Given the description of an element on the screen output the (x, y) to click on. 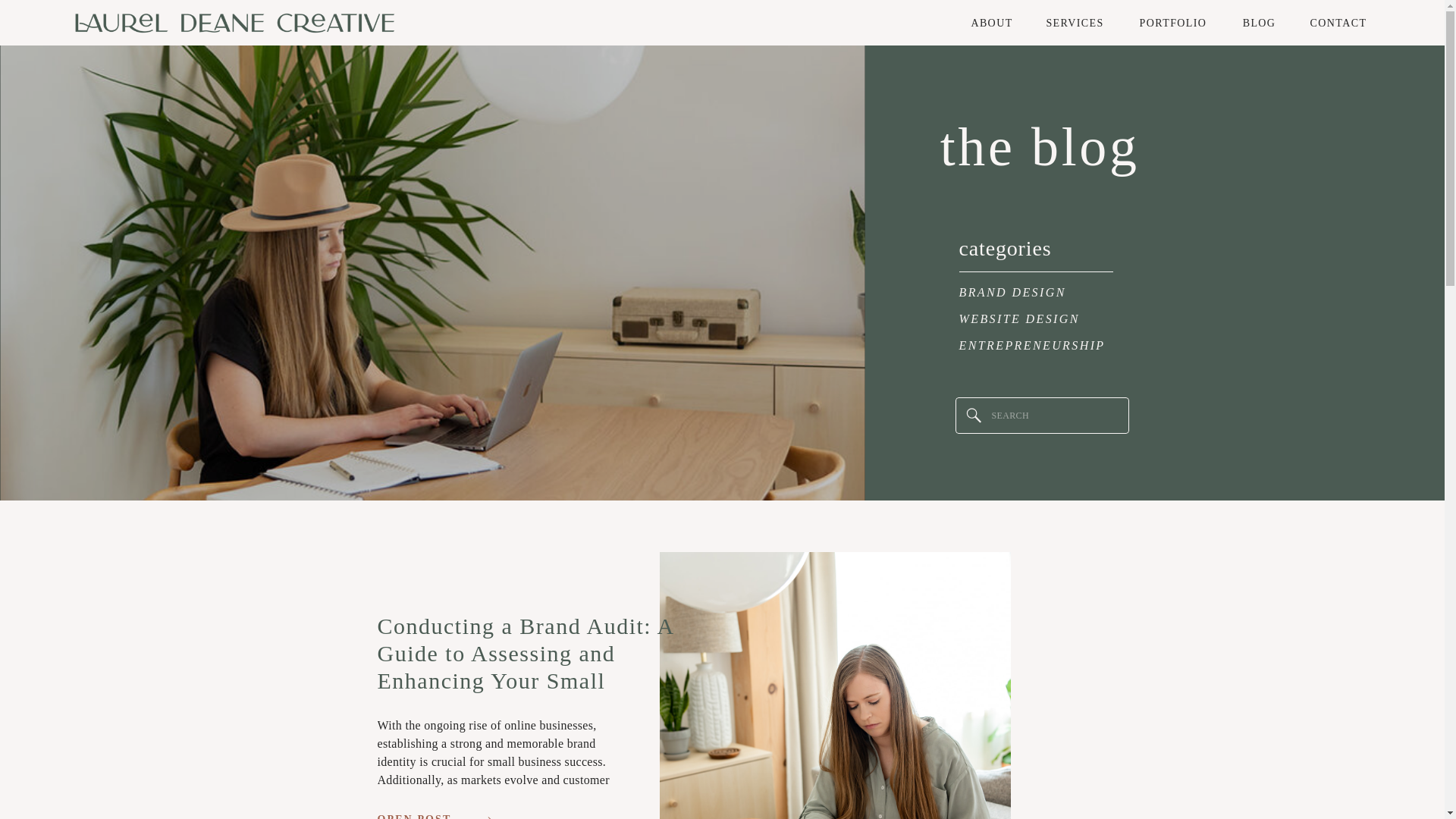
SERVICES (1074, 22)
CONTACT (1337, 22)
BLOG (1259, 22)
ENTREPRENEURSHIP (1045, 345)
OPEN POST (420, 816)
ABOUT (991, 22)
PORTFOLIO (1173, 22)
BRAND DESIGN (1038, 292)
WEBSITE DESIGN (1038, 319)
